Given the description of an element on the screen output the (x, y) to click on. 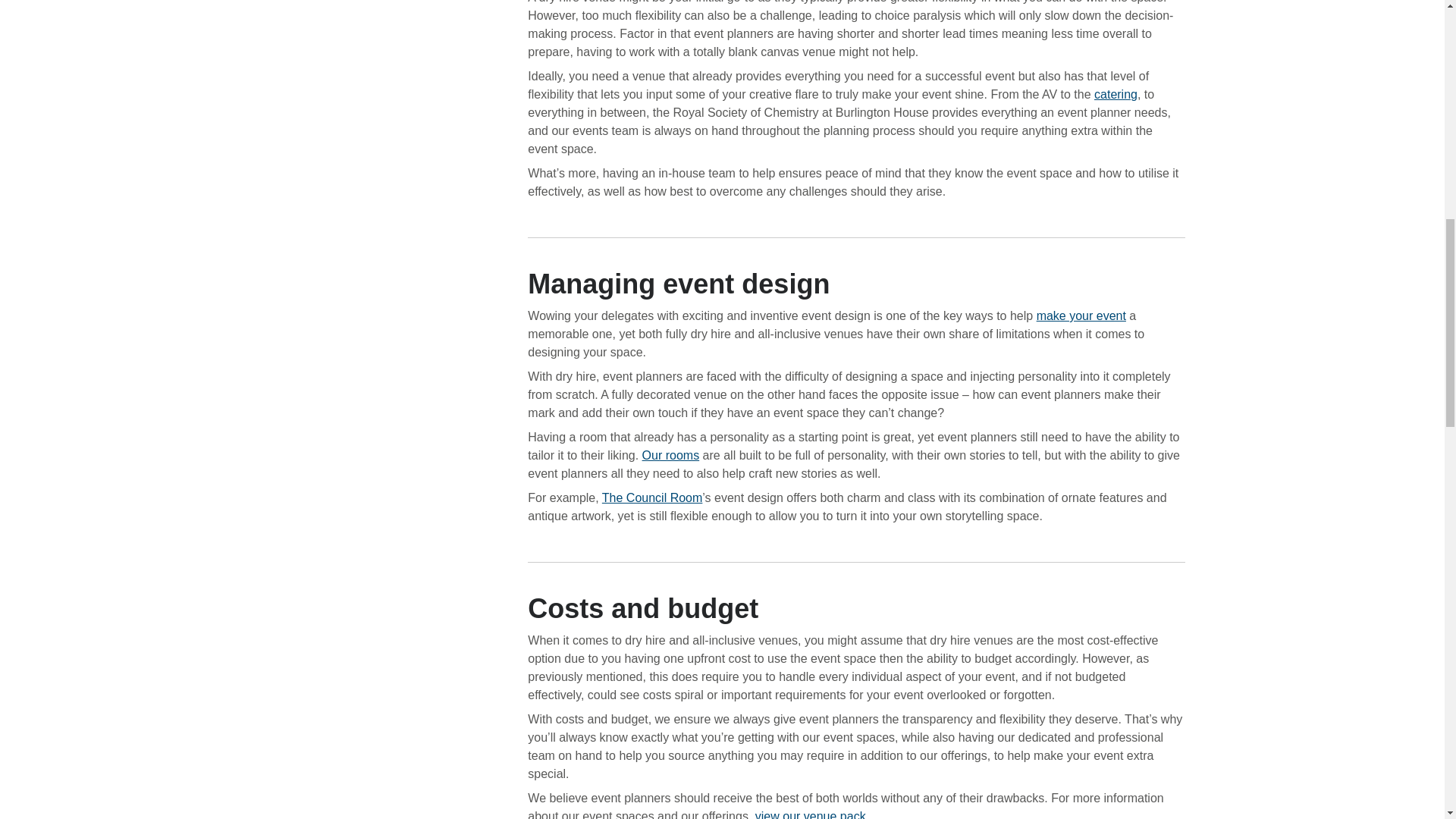
make your event (1080, 315)
catering (1115, 93)
view our venue pack. (812, 814)
The Council Room (652, 497)
Our rooms (671, 454)
